Given the description of an element on the screen output the (x, y) to click on. 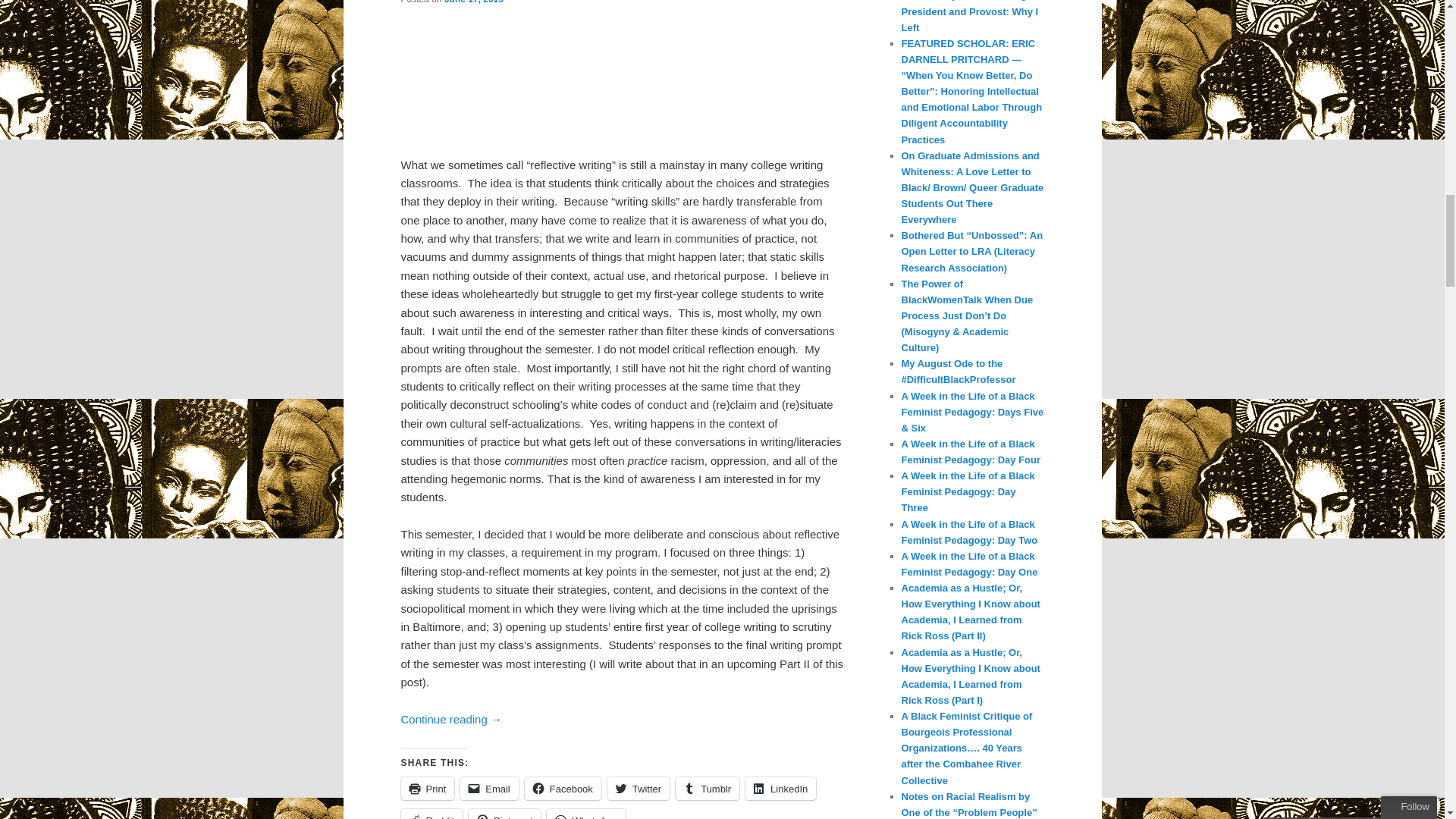
12:06 pm (473, 2)
Click to print (427, 788)
Click to email a link to a friend (489, 788)
